Given the description of an element on the screen output the (x, y) to click on. 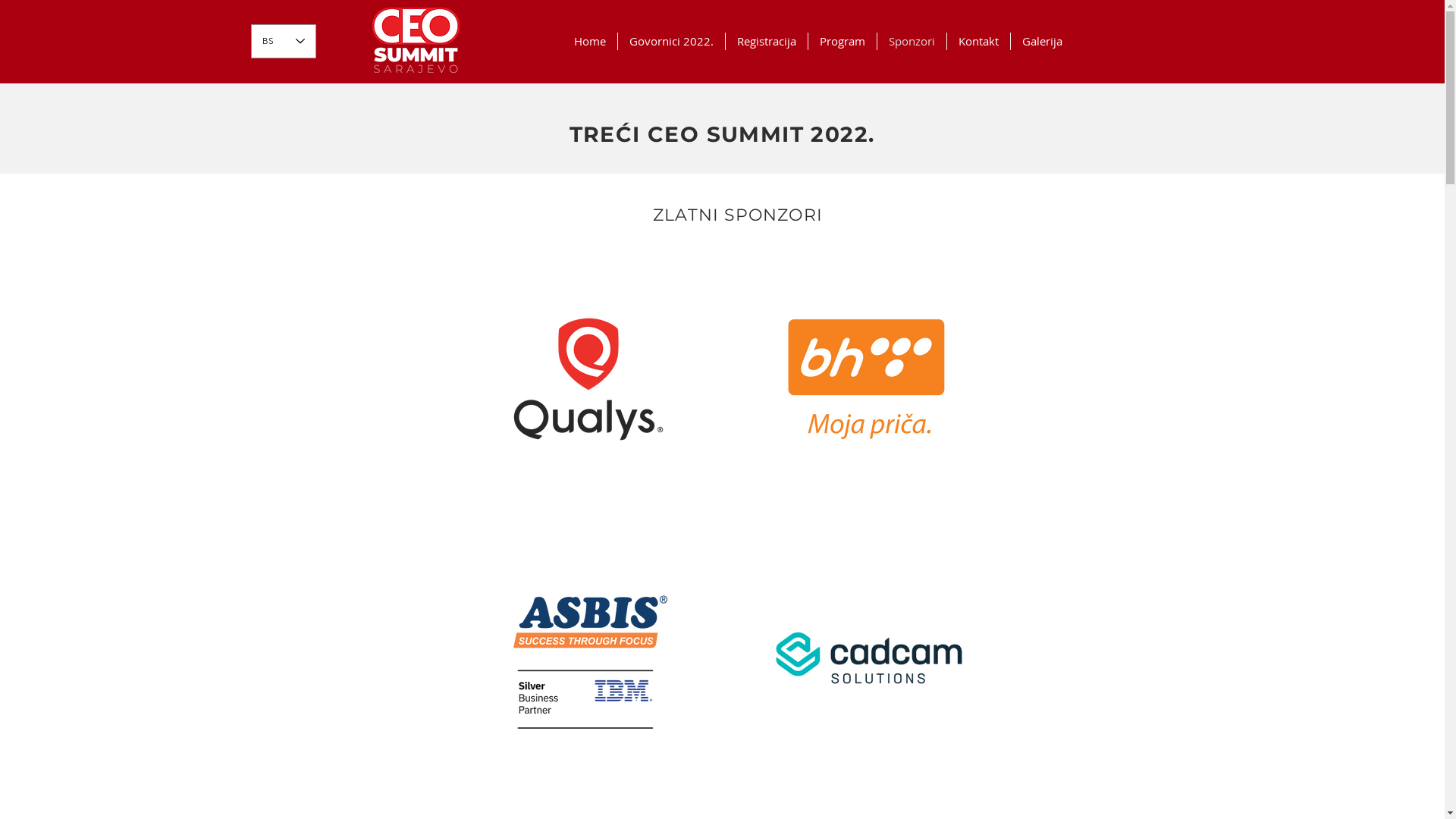
Registracija Element type: text (765, 41)
Home Element type: text (589, 41)
Galerija Element type: text (1041, 41)
Program Element type: text (842, 41)
Kontakt Element type: text (977, 41)
Govornici 2022. Element type: text (670, 41)
Sponzori Element type: text (910, 41)
